Given the description of an element on the screen output the (x, y) to click on. 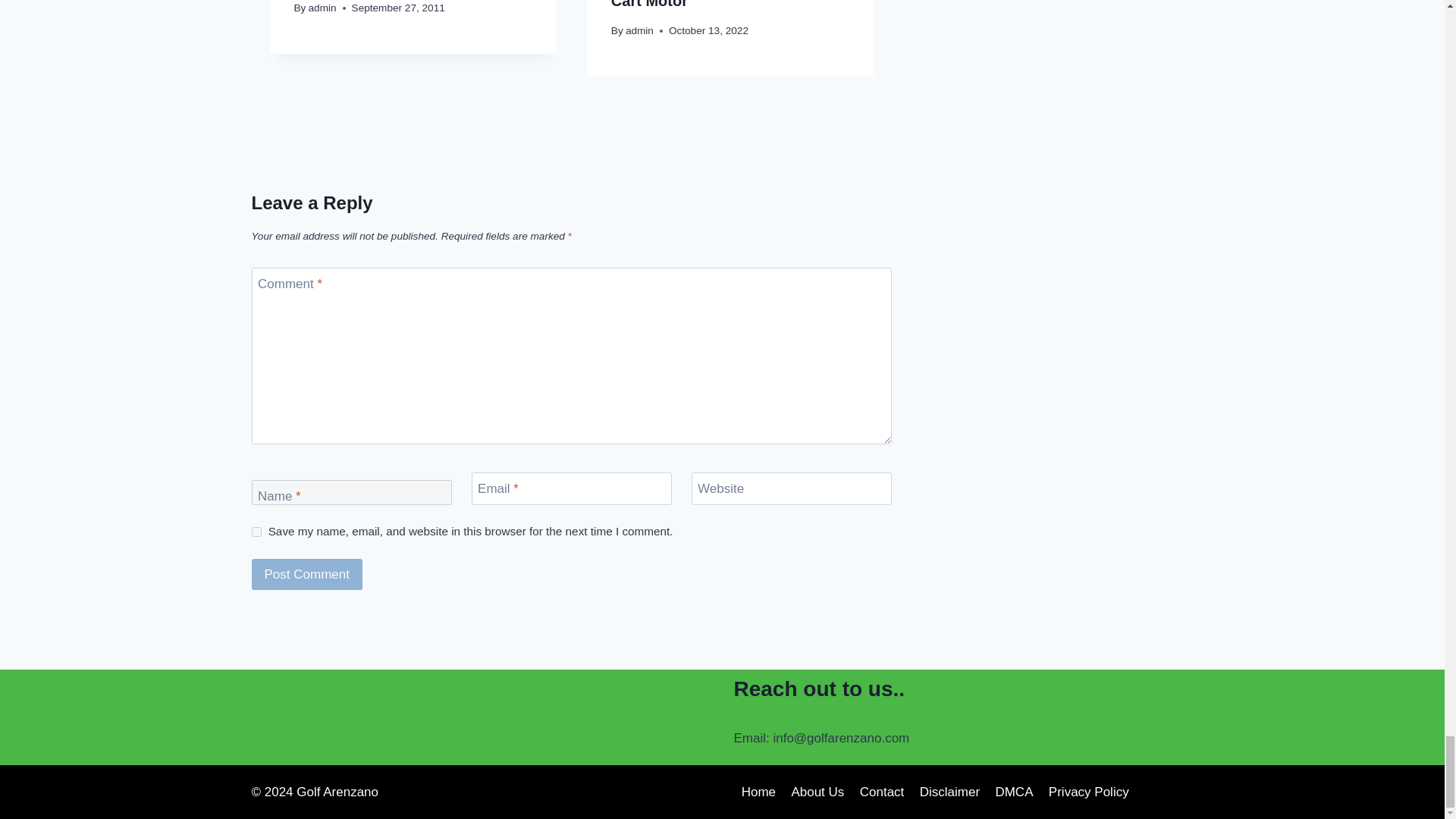
yes (256, 532)
Post Comment (306, 573)
